Given the description of an element on the screen output the (x, y) to click on. 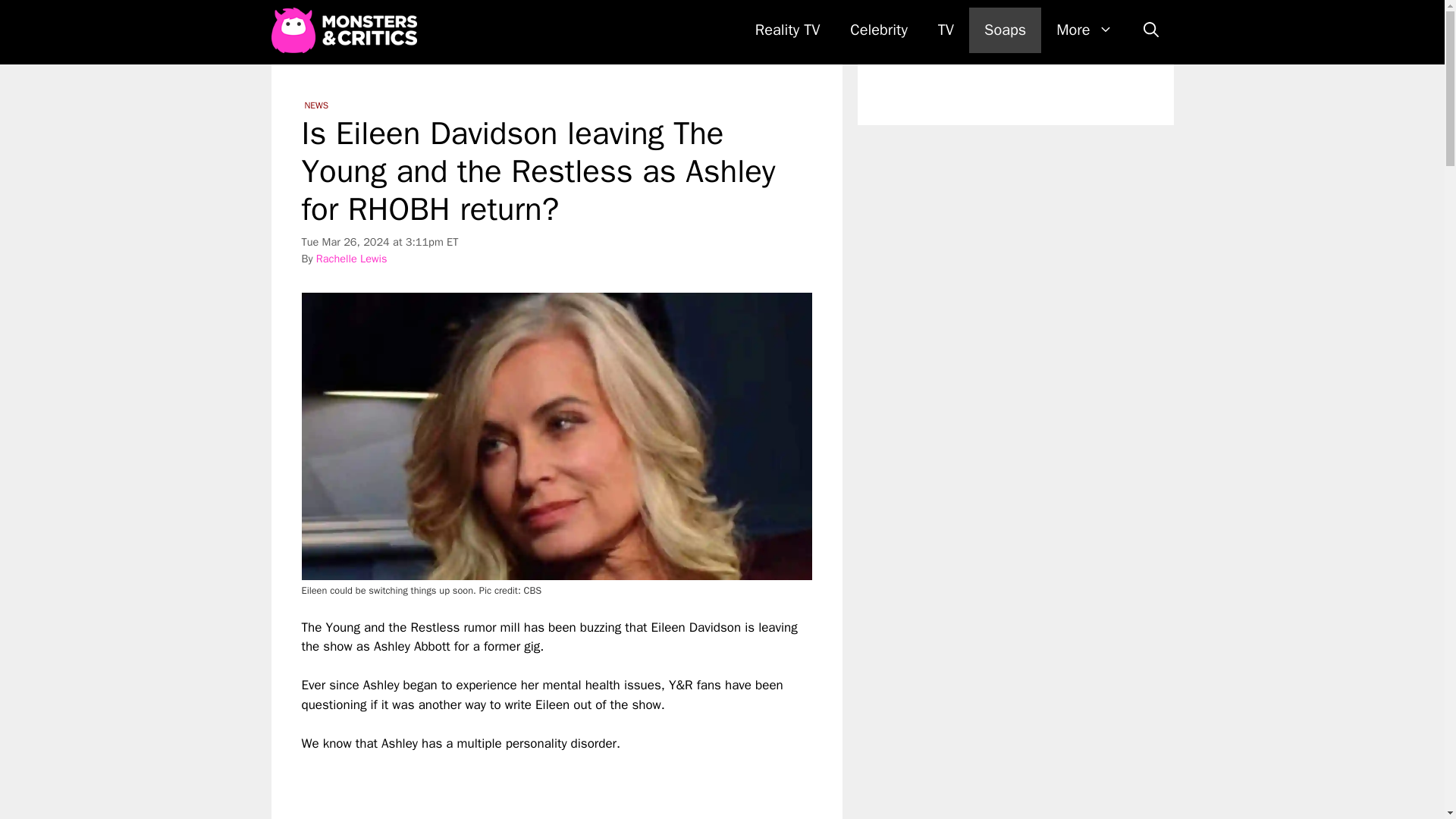
Monsters and Critics (343, 30)
Reality TV (787, 30)
View all posts by Rachelle Lewis (351, 258)
YouTube video player (513, 785)
Monsters and Critics (347, 30)
More (1083, 30)
Rachelle Lewis (351, 258)
Celebrity (877, 30)
TV (946, 30)
Soaps (1005, 30)
